Given the description of an element on the screen output the (x, y) to click on. 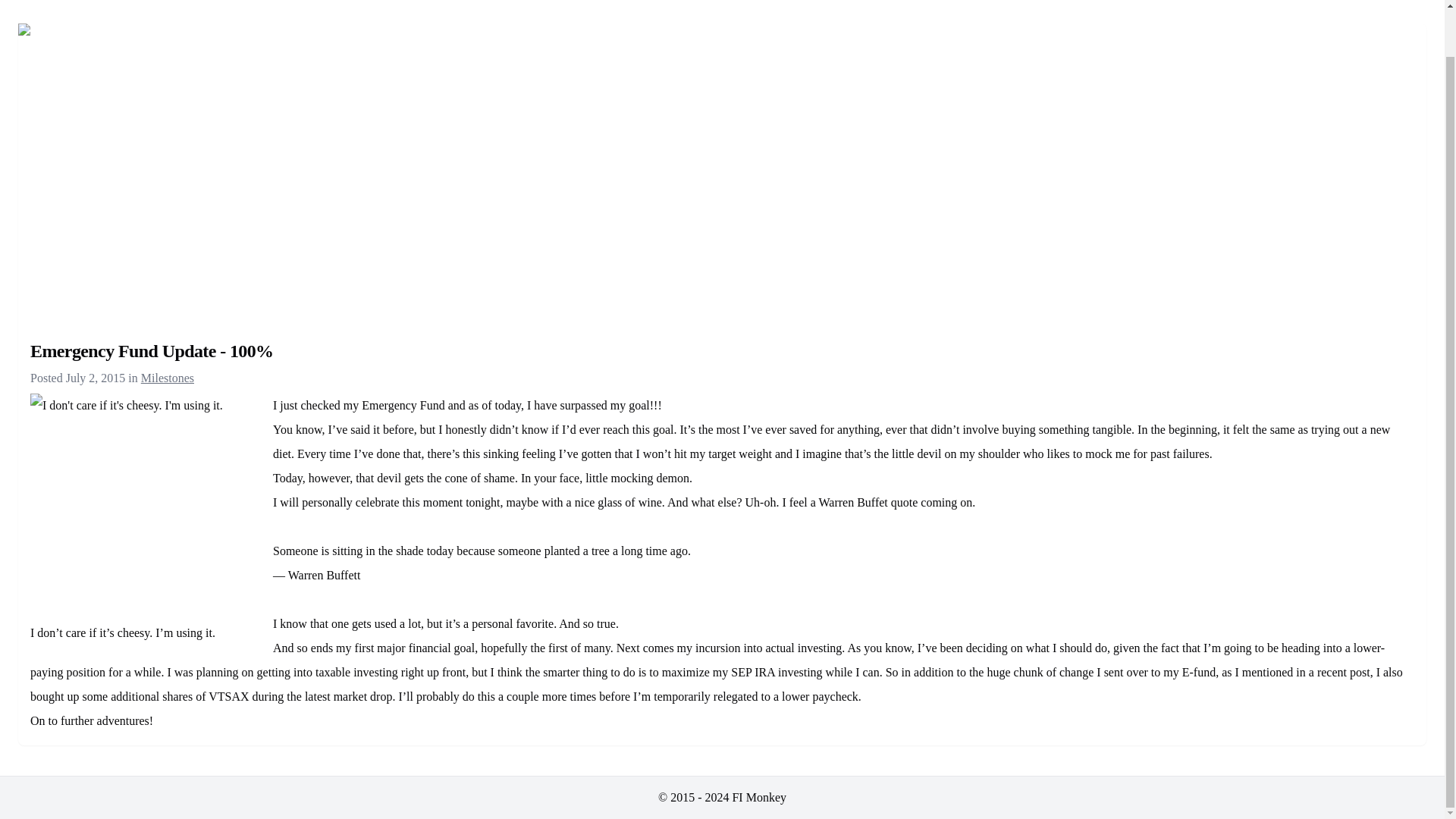
Milestones (167, 377)
FI Monkey (759, 797)
mentioned in a recent post (1305, 671)
